Given the description of an element on the screen output the (x, y) to click on. 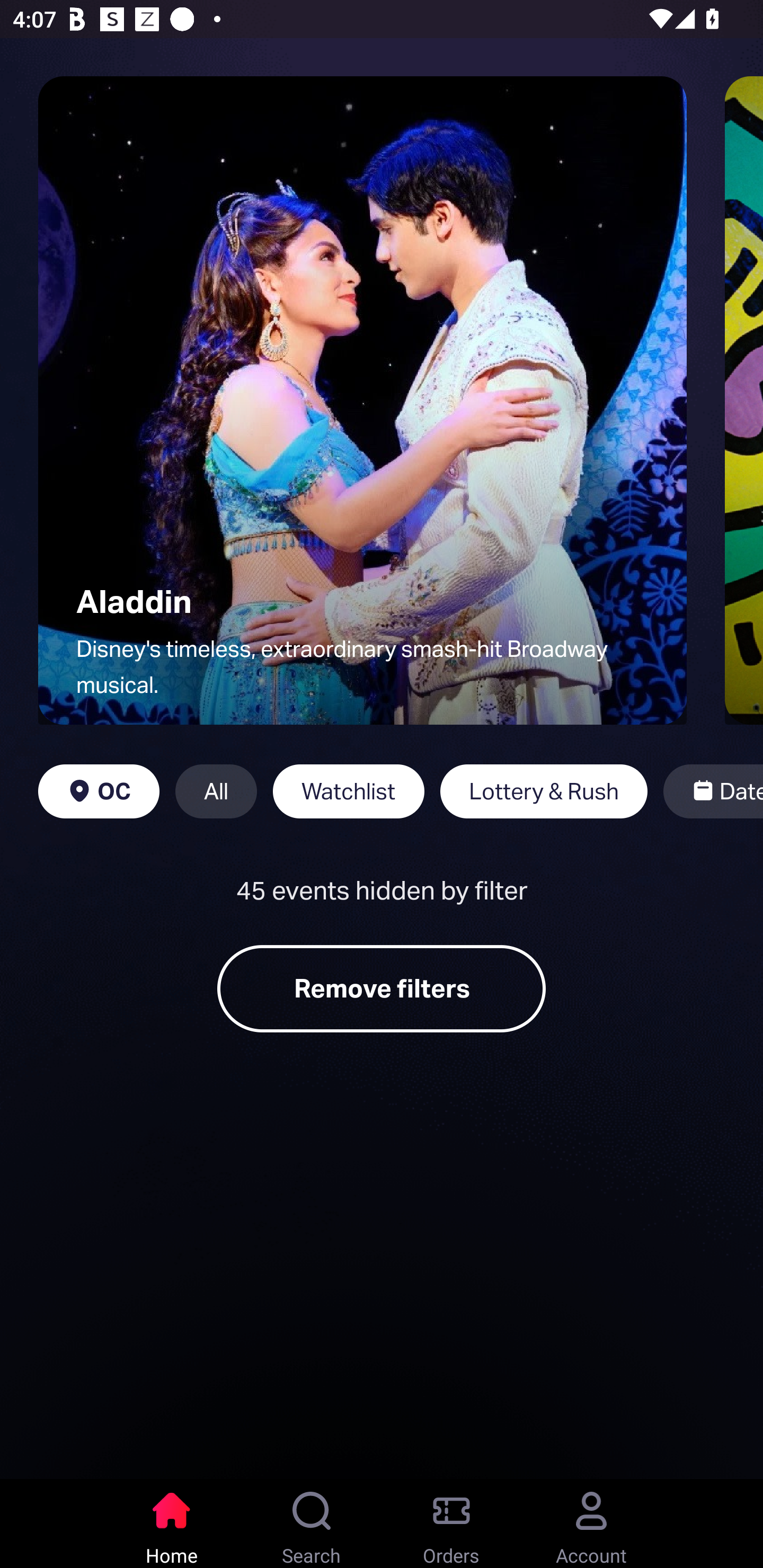
OC (98, 791)
All (216, 791)
Watchlist (348, 791)
Lottery & Rush (543, 791)
Remove filters (381, 988)
Search (311, 1523)
Orders (451, 1523)
Account (591, 1523)
